Given the description of an element on the screen output the (x, y) to click on. 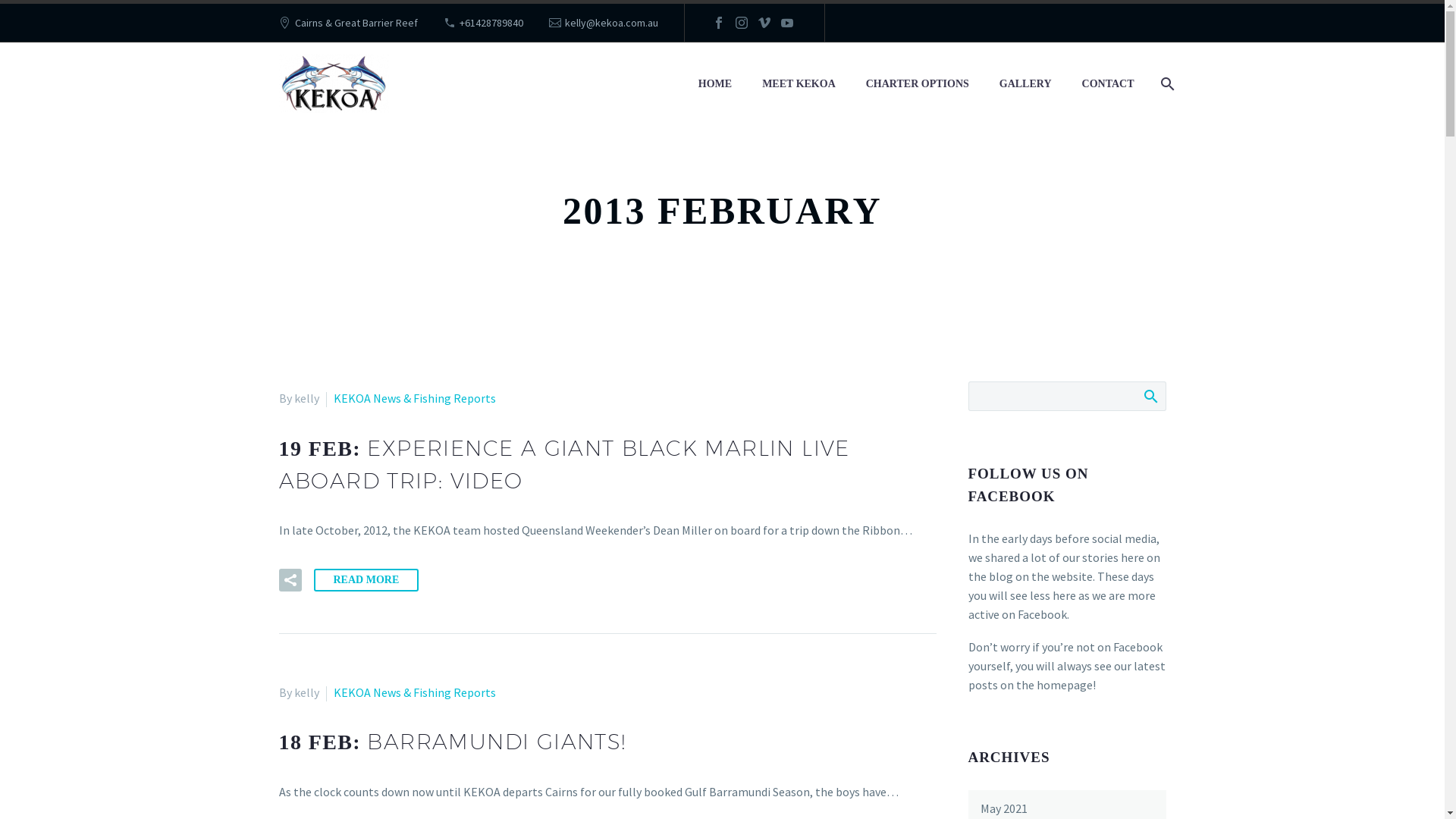
MEET KEKOA Element type: text (798, 83)
Facebook Element type: hover (718, 22)
YouTube Element type: hover (786, 22)
READ MORE Element type: text (366, 579)
Instagram Element type: hover (741, 22)
GALLERY Element type: text (1025, 83)
kelly@kekoa.com.au Element type: text (611, 22)
KEKOA News & Fishing Reports Element type: text (414, 691)
+61428789840 Element type: text (491, 22)
SEARCH Element type: text (1148, 395)
May 2021 Element type: text (1002, 807)
CHARTER OPTIONS Element type: text (917, 83)
Facebook Element type: text (1041, 613)
Vimeo Element type: hover (764, 22)
HOME Element type: text (714, 83)
18 FEB: BARRAMUNDI GIANTS! Element type: text (452, 741)
CONTACT Element type: text (1107, 83)
KEKOA News & Fishing Reports Element type: text (414, 397)
